Given the description of an element on the screen output the (x, y) to click on. 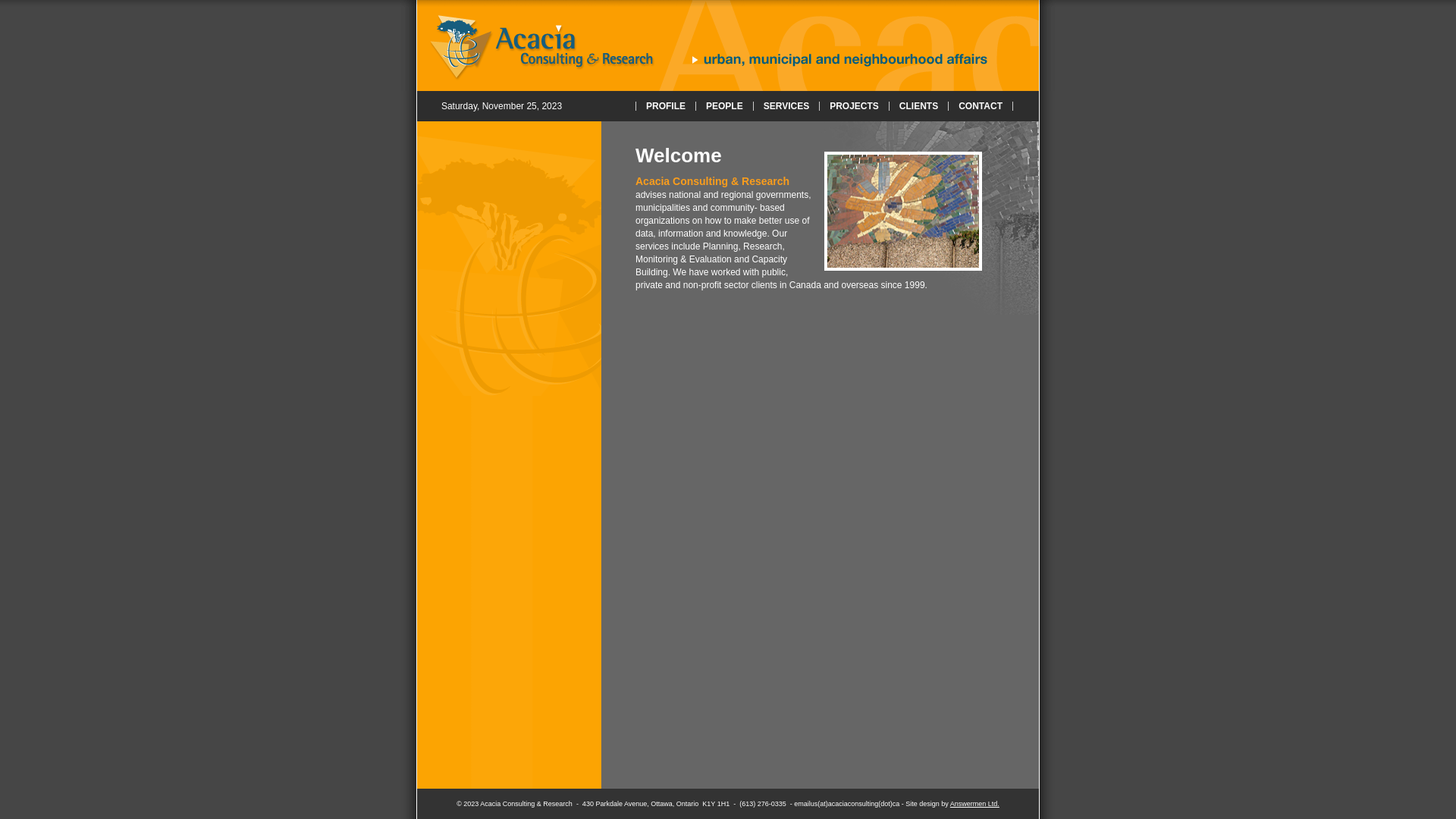
PROFILE Element type: text (665, 105)
Answermen Ltd. Element type: text (974, 803)
CLIENTS Element type: text (918, 105)
SERVICES Element type: text (786, 105)
PEOPLE Element type: text (724, 105)
CONTACT Element type: text (980, 105)
PROJECTS Element type: text (853, 105)
Acacia Consulting & Research Element type: text (727, 42)
